Given the description of an element on the screen output the (x, y) to click on. 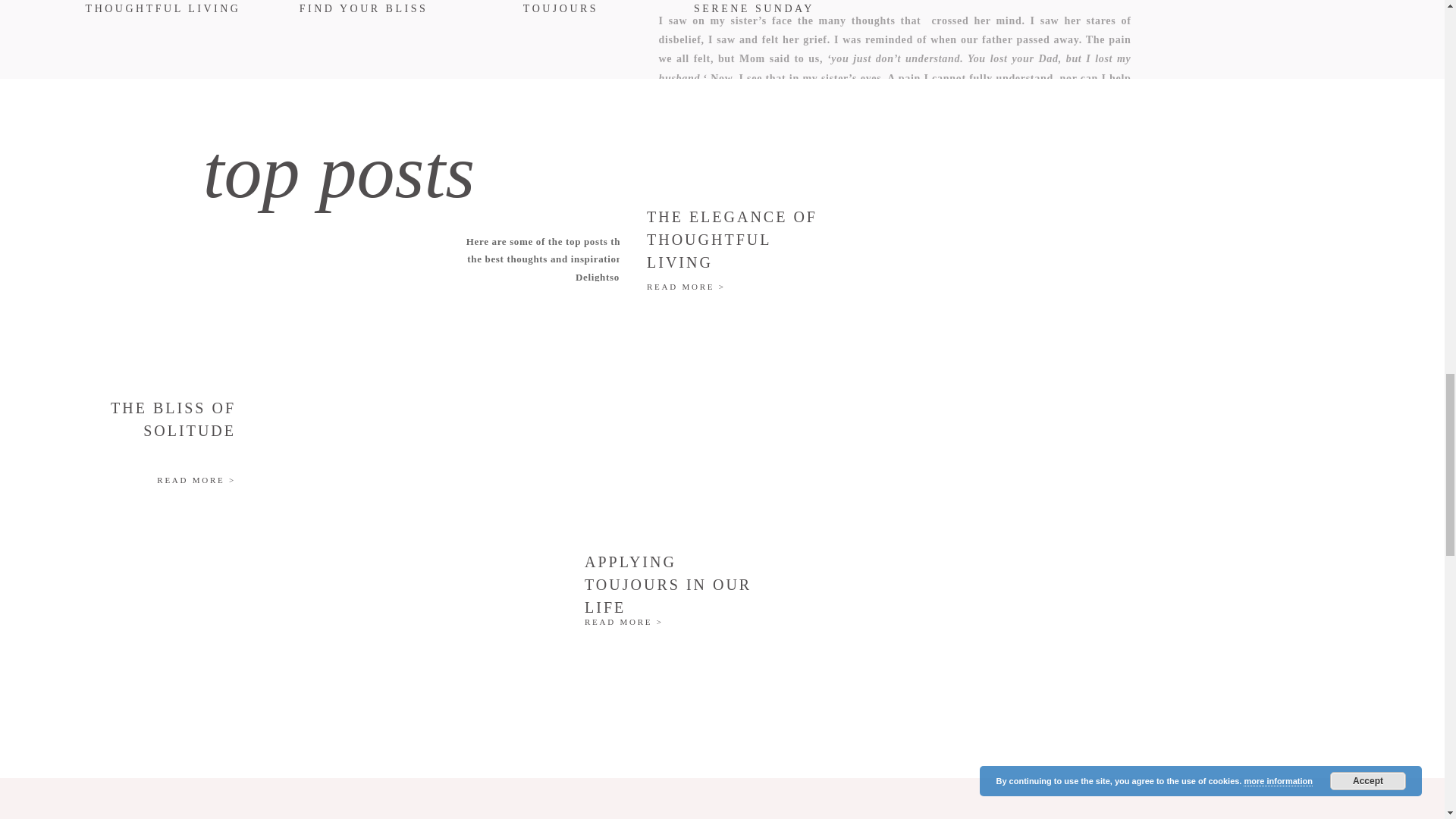
THOUGHTFUL LIVING (163, 9)
SERENE SUNDAY (753, 9)
FIND YOUR BLISS (362, 9)
TOUJOURS (561, 9)
THE ELEGANCE OF THOUGHTFUL LIVING (737, 236)
